Given the description of an element on the screen output the (x, y) to click on. 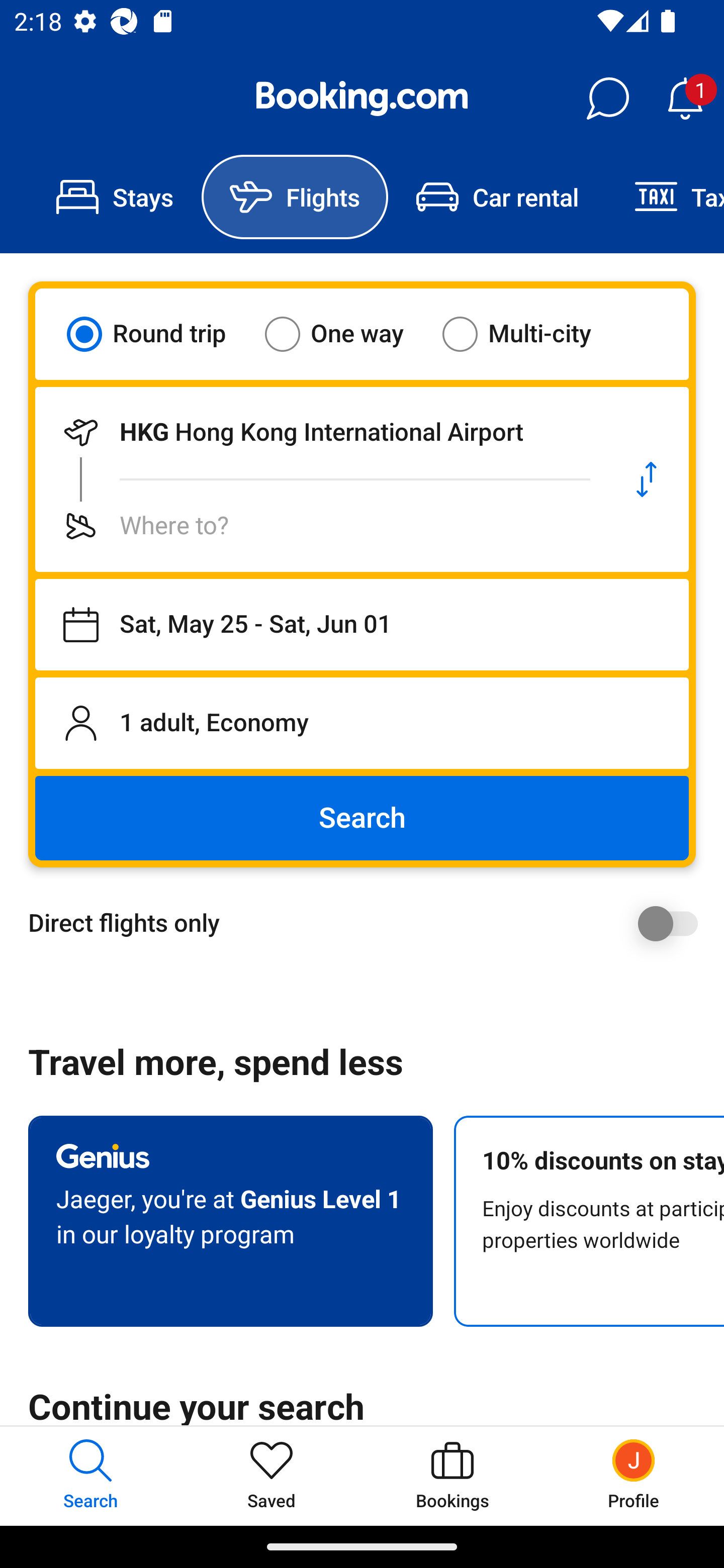
Messages (607, 98)
Notifications (685, 98)
Stays (114, 197)
Flights (294, 197)
Car rental (497, 197)
Taxi (665, 197)
One way (346, 333)
Multi-city (528, 333)
Departing from HKG Hong Kong International Airport (319, 432)
Swap departure location and destination (646, 479)
Flying to  (319, 525)
Departing on Sat, May 25, returning on Sat, Jun 01 (361, 624)
1 adult, Economy (361, 722)
Search (361, 818)
Direct flights only (369, 923)
Saved (271, 1475)
Bookings (452, 1475)
Profile (633, 1475)
